Given the description of an element on the screen output the (x, y) to click on. 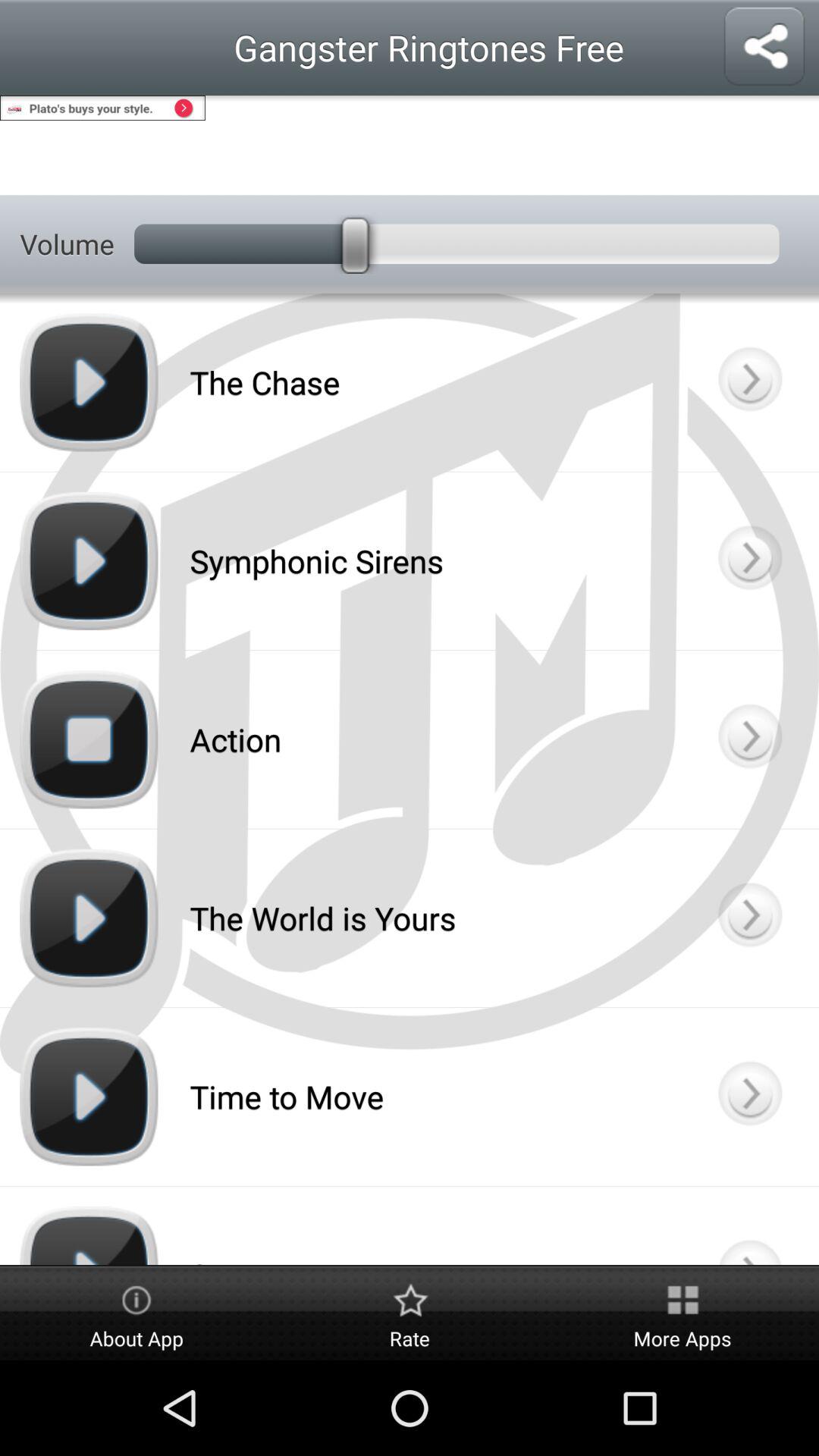
share button (764, 47)
